Given the description of an element on the screen output the (x, y) to click on. 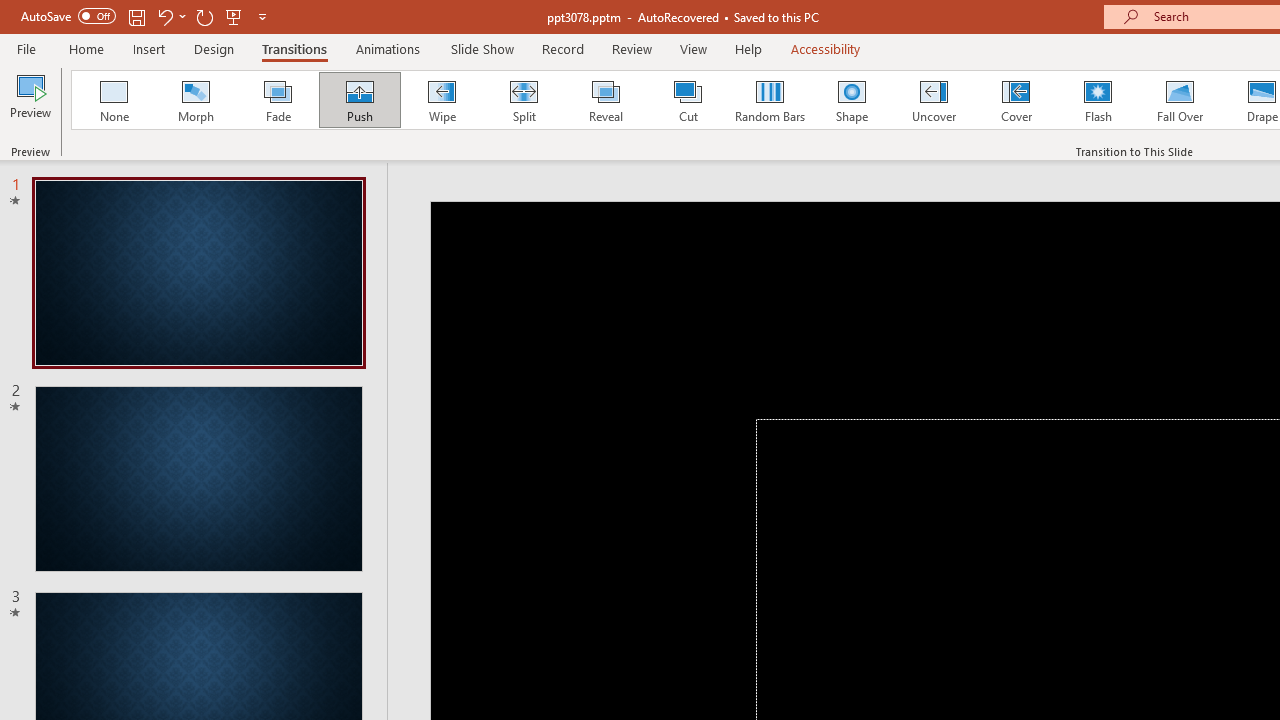
Reveal (605, 100)
Morph (195, 100)
Uncover (934, 100)
Slide (198, 478)
Split (523, 100)
